Given the description of an element on the screen output the (x, y) to click on. 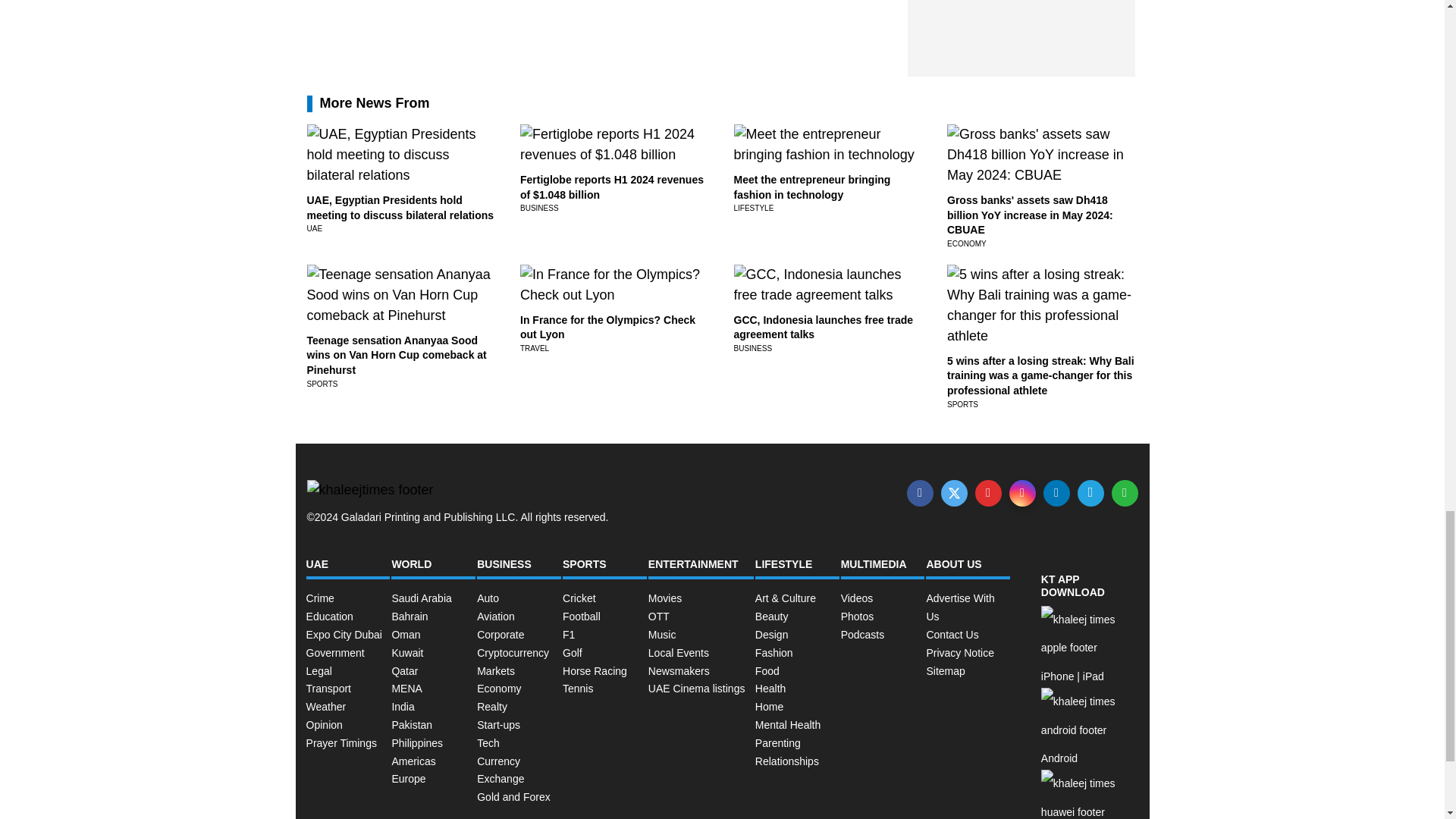
In France for the Olympics? Check out Lyon  (607, 327)
GCC, Indonesia launches free trade agreement talks (823, 327)
Meet the entrepreneur bringing fashion in technology (812, 186)
